Given the description of an element on the screen output the (x, y) to click on. 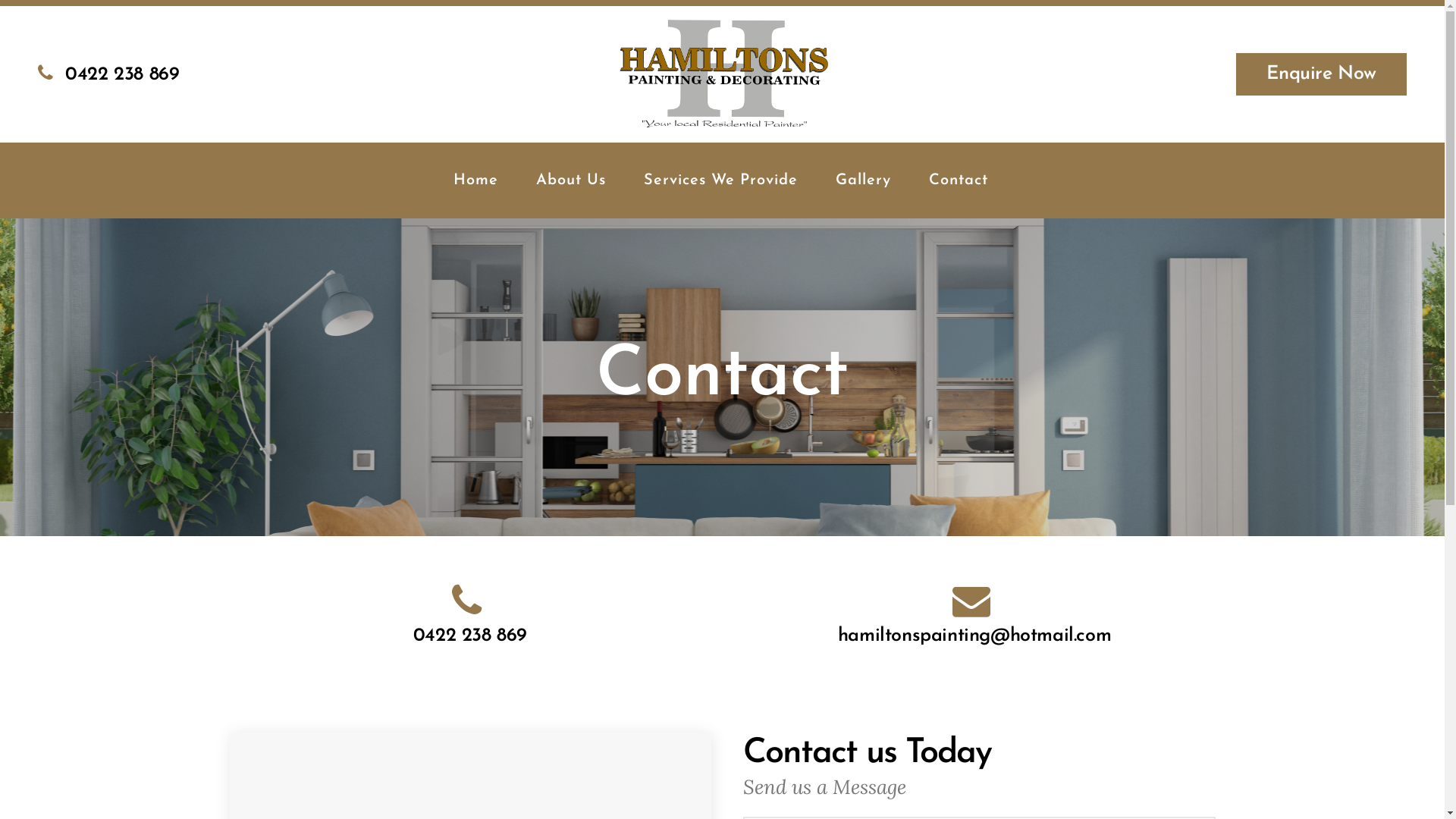
Gallery Element type: text (862, 180)
Home Element type: text (474, 180)
hamiltonspainting@hotmail.com Element type: text (973, 635)
Contact Element type: text (958, 180)
Enquire Now Element type: text (1321, 73)
About Us Element type: text (570, 180)
0422 238 869 Element type: text (470, 635)
Services We Provide Element type: text (720, 180)
0422 238 869 Element type: text (107, 74)
